Given the description of an element on the screen output the (x, y) to click on. 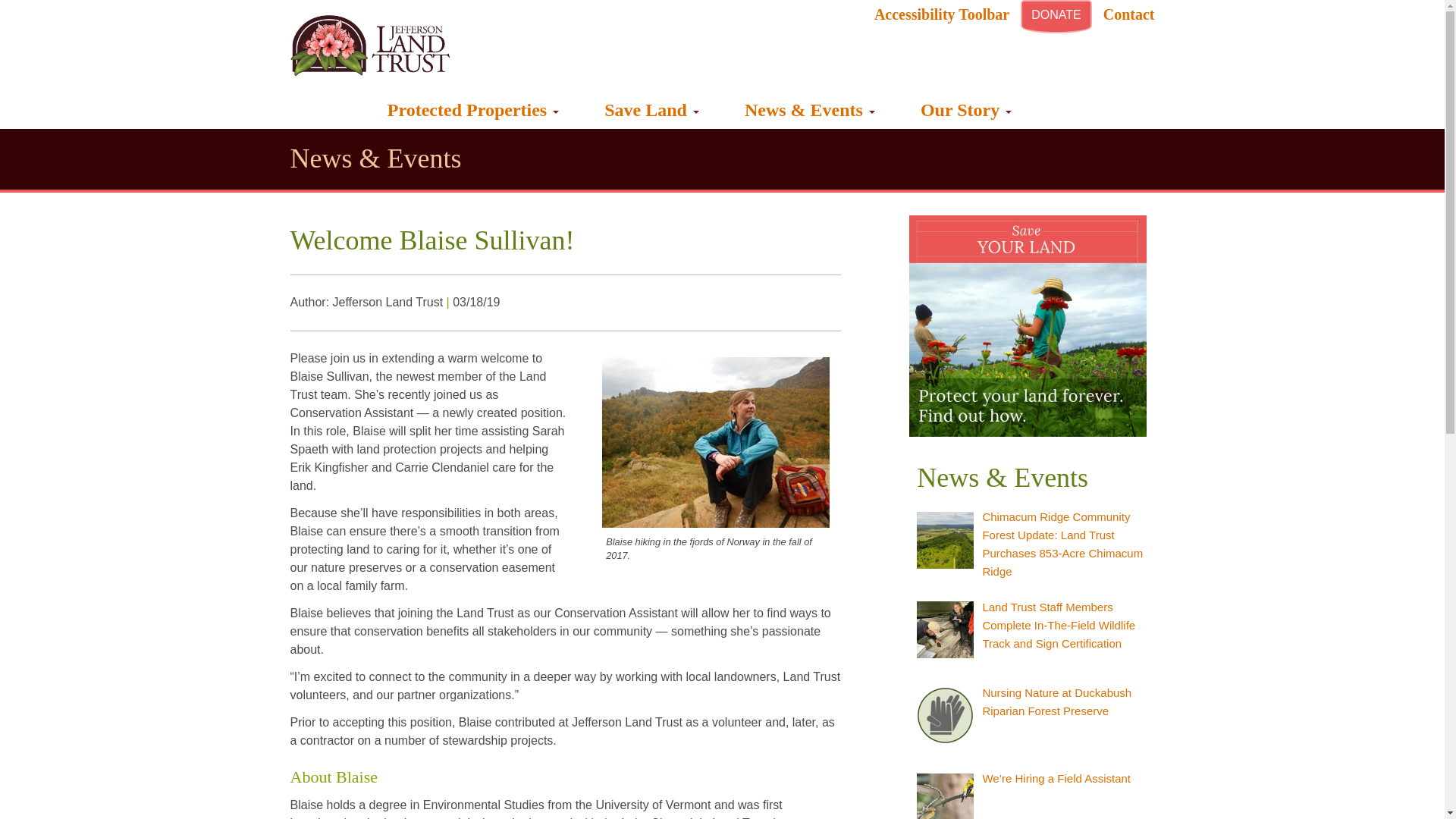
DONATE (1055, 16)
Accessibility Toolbar (942, 13)
Save Land (651, 109)
Protected Properties (472, 109)
Contact (1128, 13)
